Given the description of an element on the screen output the (x, y) to click on. 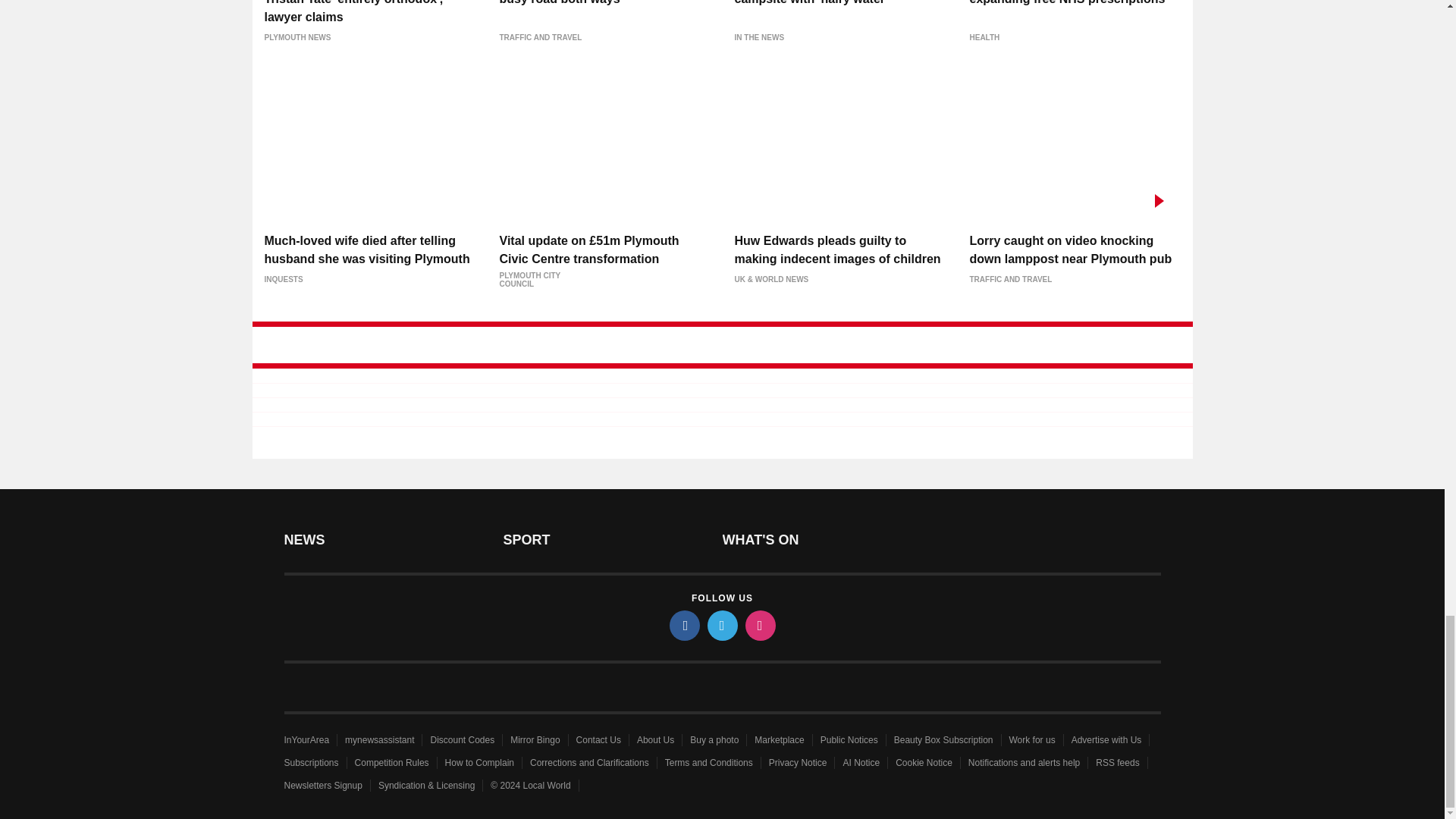
facebook (683, 625)
instagram (759, 625)
twitter (721, 625)
